Given the description of an element on the screen output the (x, y) to click on. 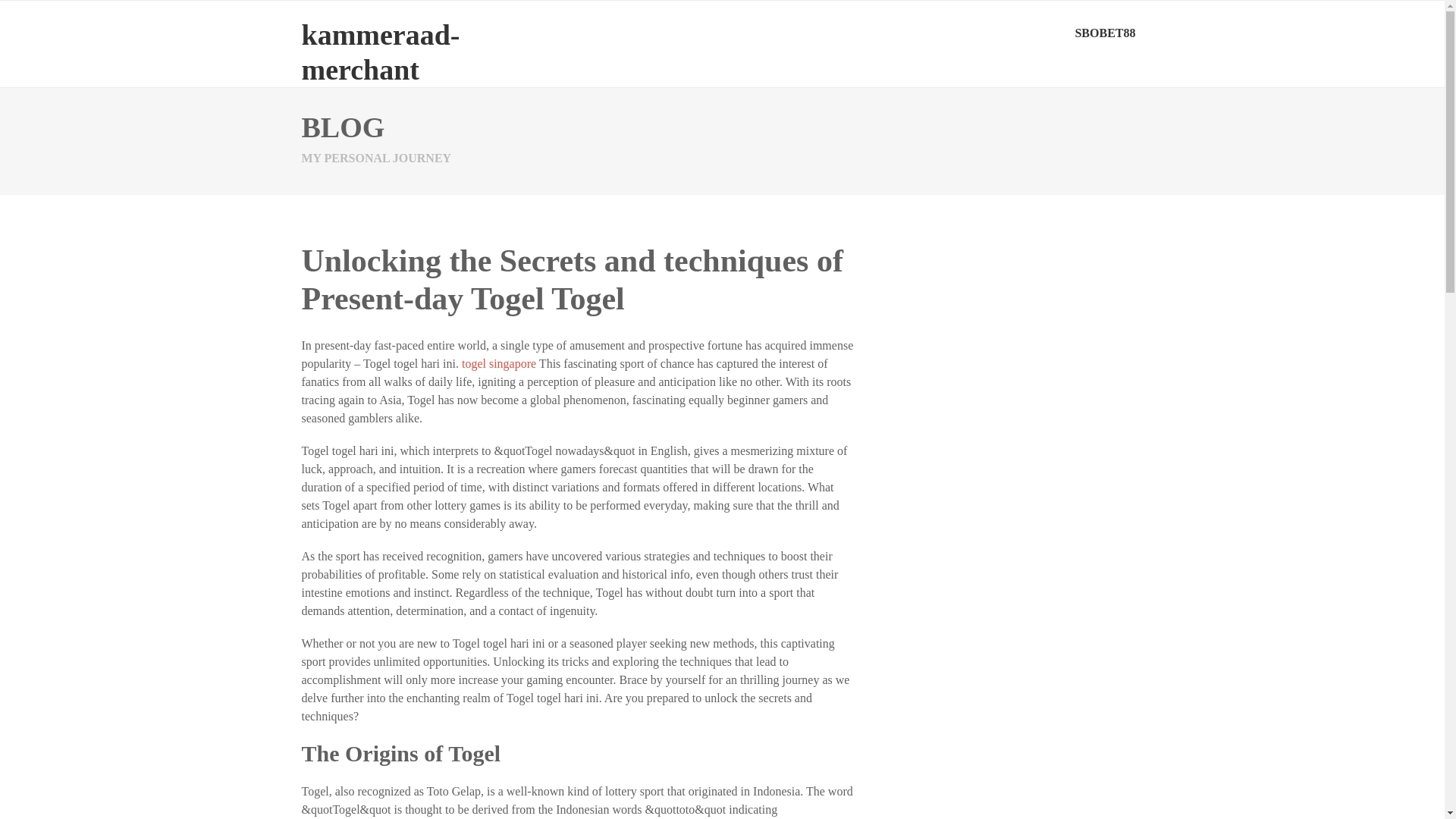
SBOBET88 (1104, 33)
togel singapore (498, 363)
kammeraad-merchant (380, 51)
